Given the description of an element on the screen output the (x, y) to click on. 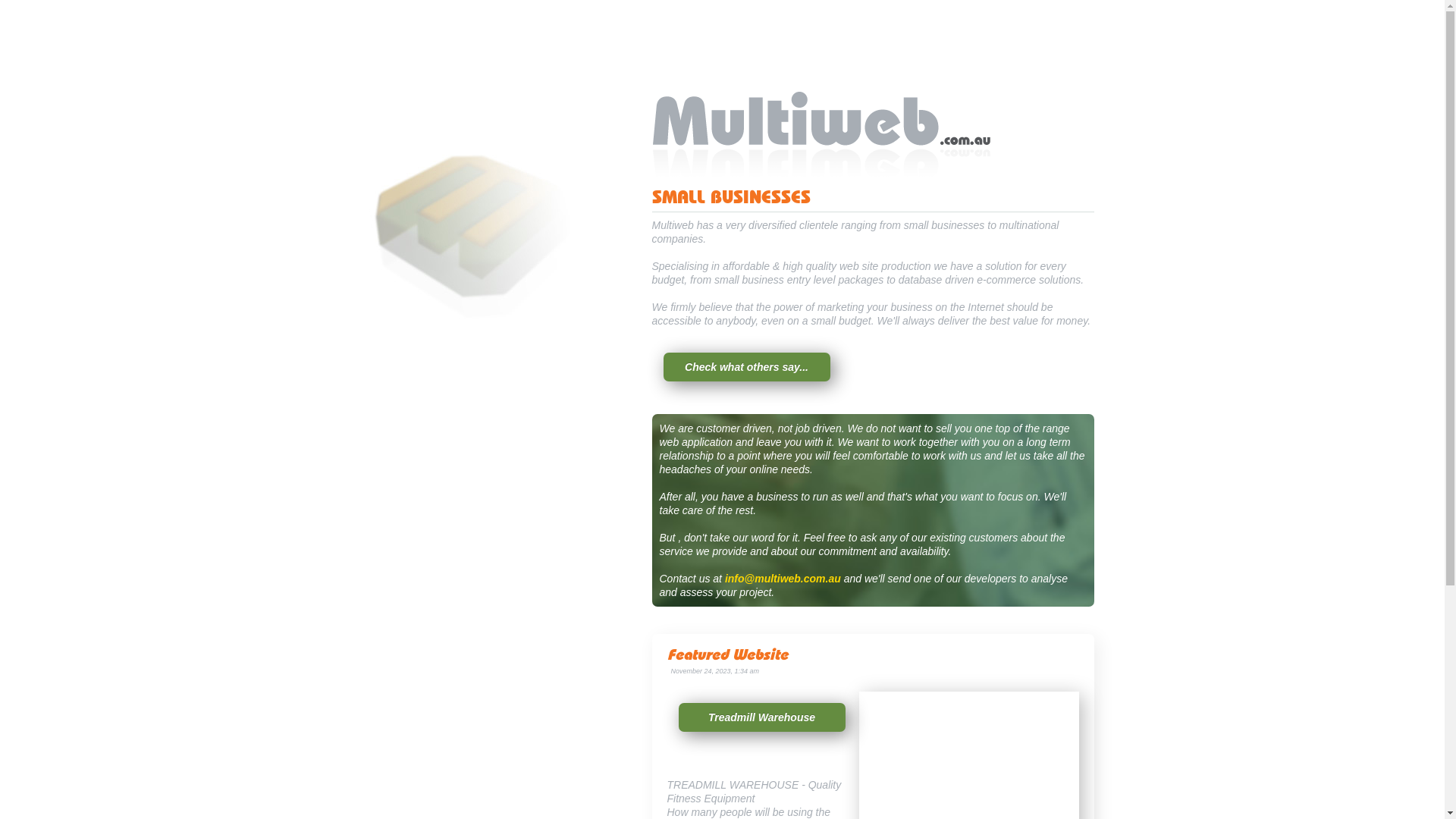
Treadmill Warehouse Element type: text (761, 717)
Web Design & Development Element type: hover (470, 328)
Home Element type: hover (873, 184)
info@multiweb.com.au Element type: text (782, 578)
Check what others say... Element type: text (746, 366)
